Given the description of an element on the screen output the (x, y) to click on. 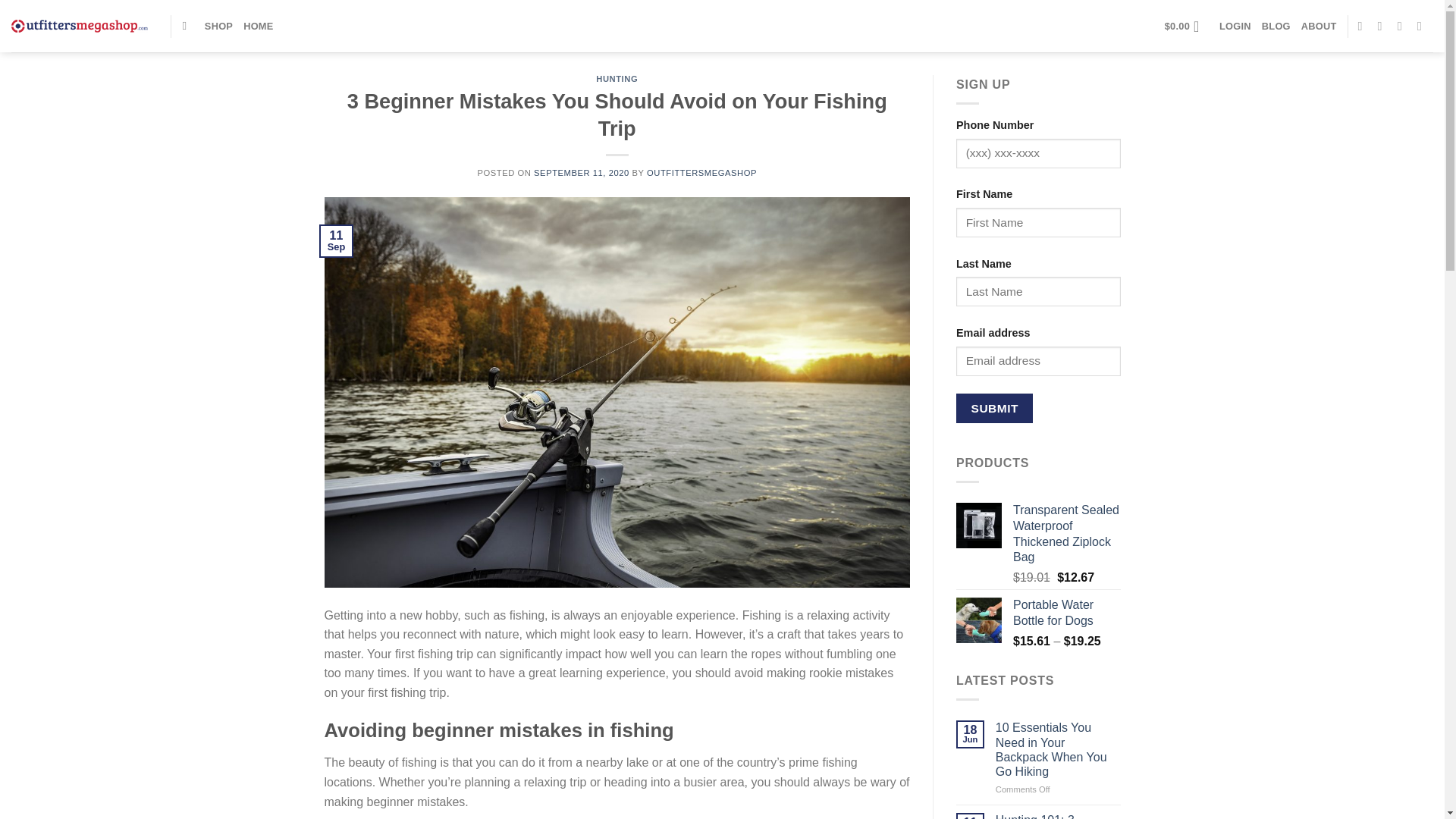
Follow on Twitter (1403, 25)
Submit (994, 408)
Submit (994, 408)
SEPTEMBER 11, 2020 (581, 172)
Cart (1186, 25)
Follow on Instagram (1383, 25)
10 Essentials You Need in Your Backpack When You Go Hiking (1058, 749)
Follow on Facebook (1364, 25)
OUTFITTERSMEGASHOP (701, 172)
Hunting 101: 3 Essential Tips Beginners Should Know (1058, 816)
Transparent Sealed Waterproof Thickened Ziplock Bag (1067, 533)
Portable Water Bottle for Dogs (1067, 613)
Follow on LinkedIn (1422, 25)
HUNTING (616, 78)
